Given the description of an element on the screen output the (x, y) to click on. 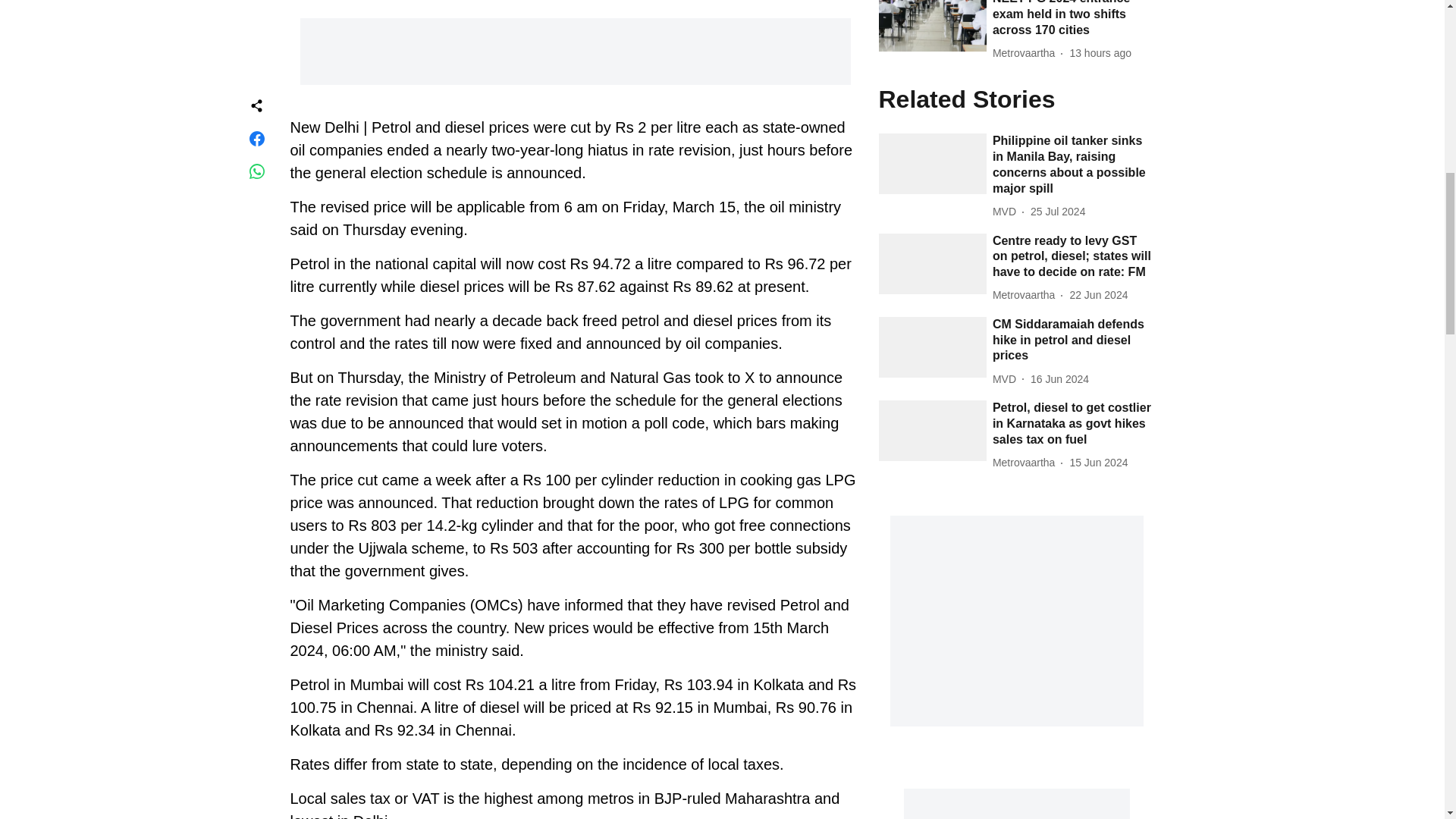
2024-06-22 15:22 (1097, 295)
2024-06-16 10:45 (1059, 379)
2024-06-15 14:30 (1097, 462)
2024-07-25 07:43 (1057, 211)
2024-08-11 16:53 (1099, 53)
Metrovaartha (1026, 53)
